Given the description of an element on the screen output the (x, y) to click on. 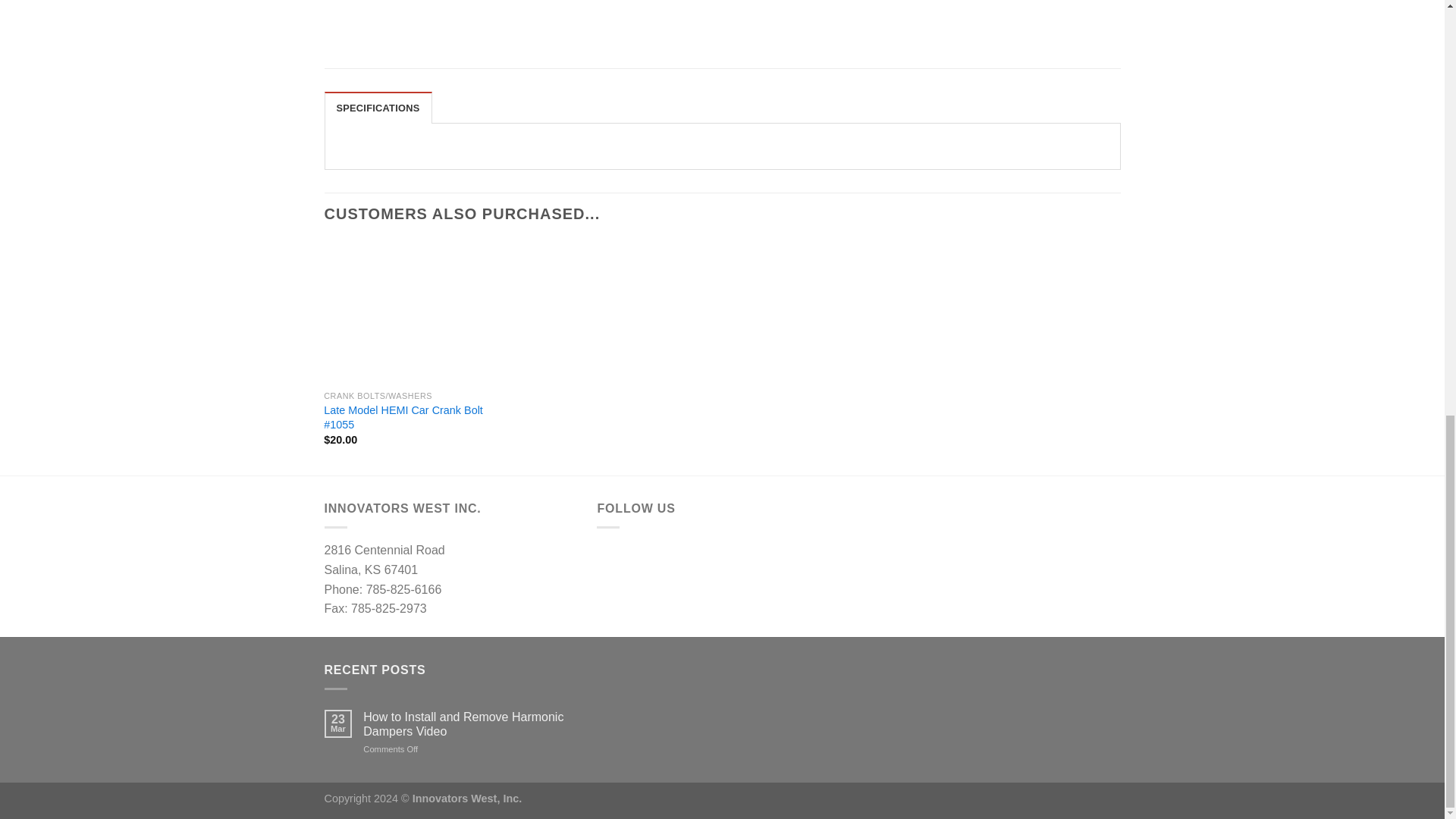
How to Install and Remove Harmonic Dampers Video (467, 724)
Email to a Friend (801, 2)
Innovators West Instagram (658, 558)
Pin on Pinterest (828, 2)
Share on Facebook (747, 2)
Share on Twitter (774, 2)
Innovators West Facebook Page (615, 558)
